Given the description of an element on the screen output the (x, y) to click on. 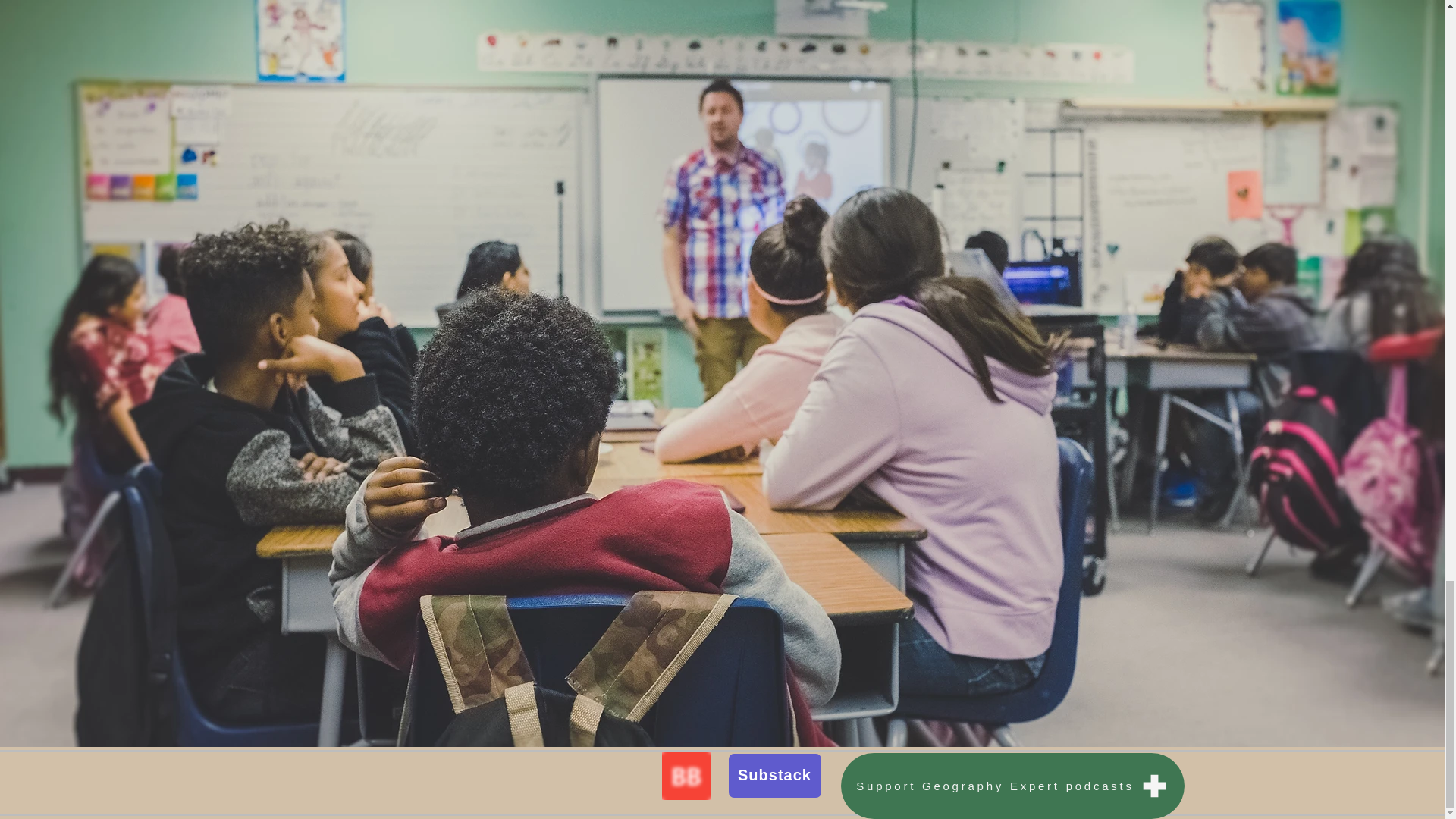
Substack (774, 775)
